Given the description of an element on the screen output the (x, y) to click on. 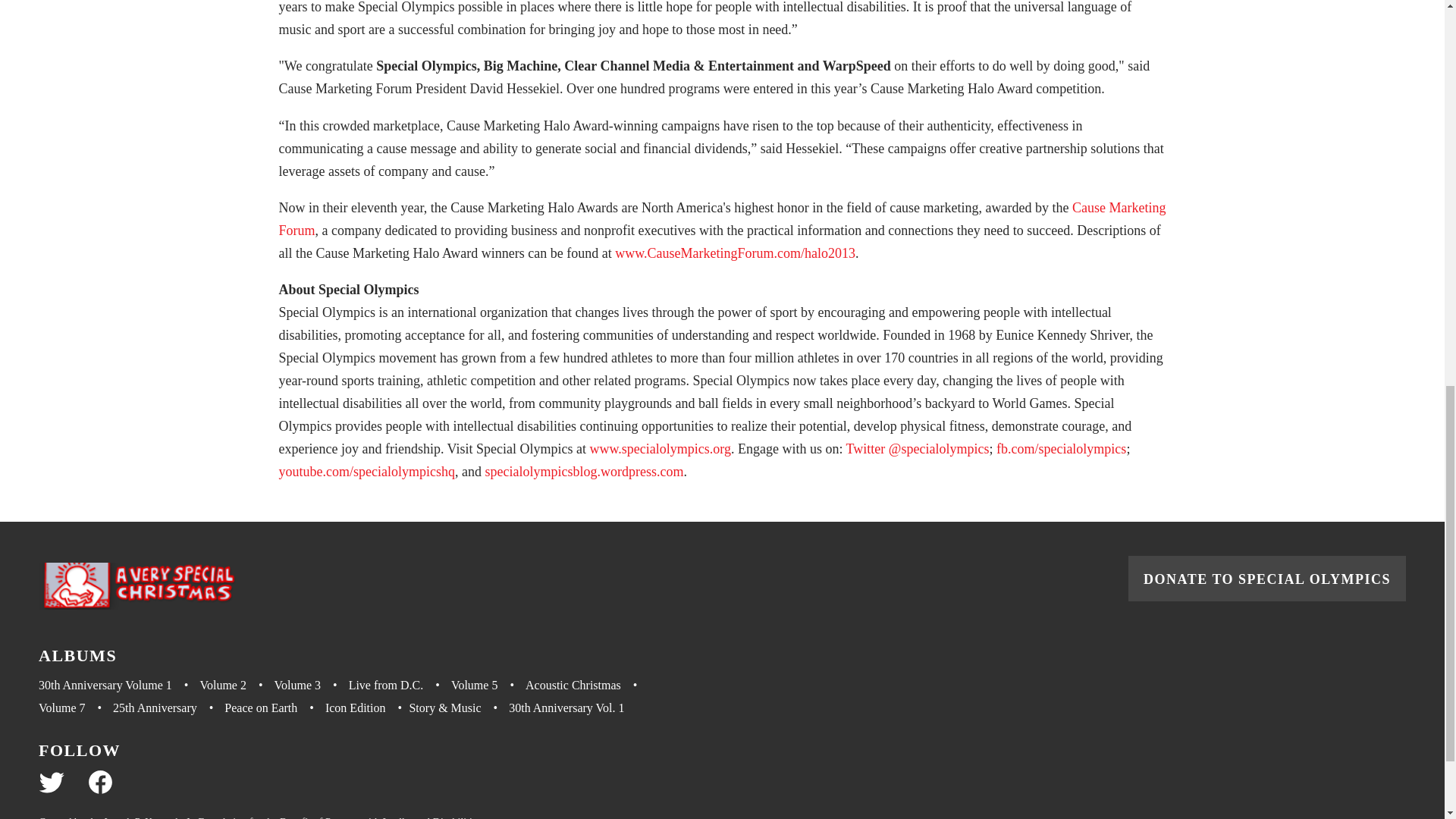
Volume 5 (488, 685)
DONATE TO SPECIAL OLYMPICS (1267, 578)
specialolympicsblog.wordpress.com (583, 471)
Volume 2 (236, 685)
Acoustic Christmas (586, 685)
30th Anniversary Volume 1 (119, 685)
Live from D.C. (400, 685)
Volume 3 (312, 685)
www.specialolympics.org (659, 448)
Cause Marketing Forum (722, 218)
